Given the description of an element on the screen output the (x, y) to click on. 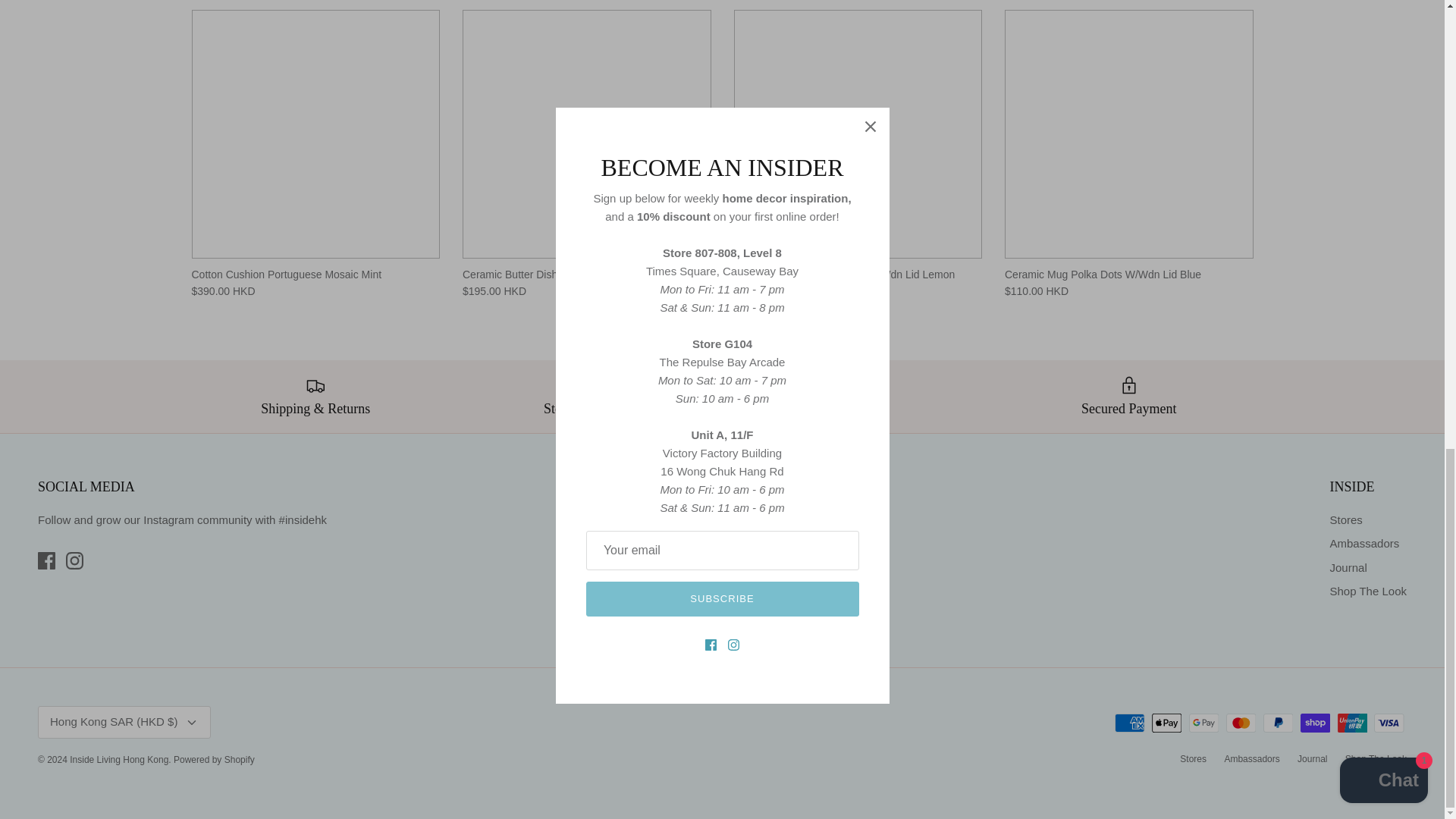
Apple Pay (1166, 722)
Google Pay (1203, 722)
American Express (1129, 722)
Facebook (46, 560)
Instagram (73, 560)
